Given the description of an element on the screen output the (x, y) to click on. 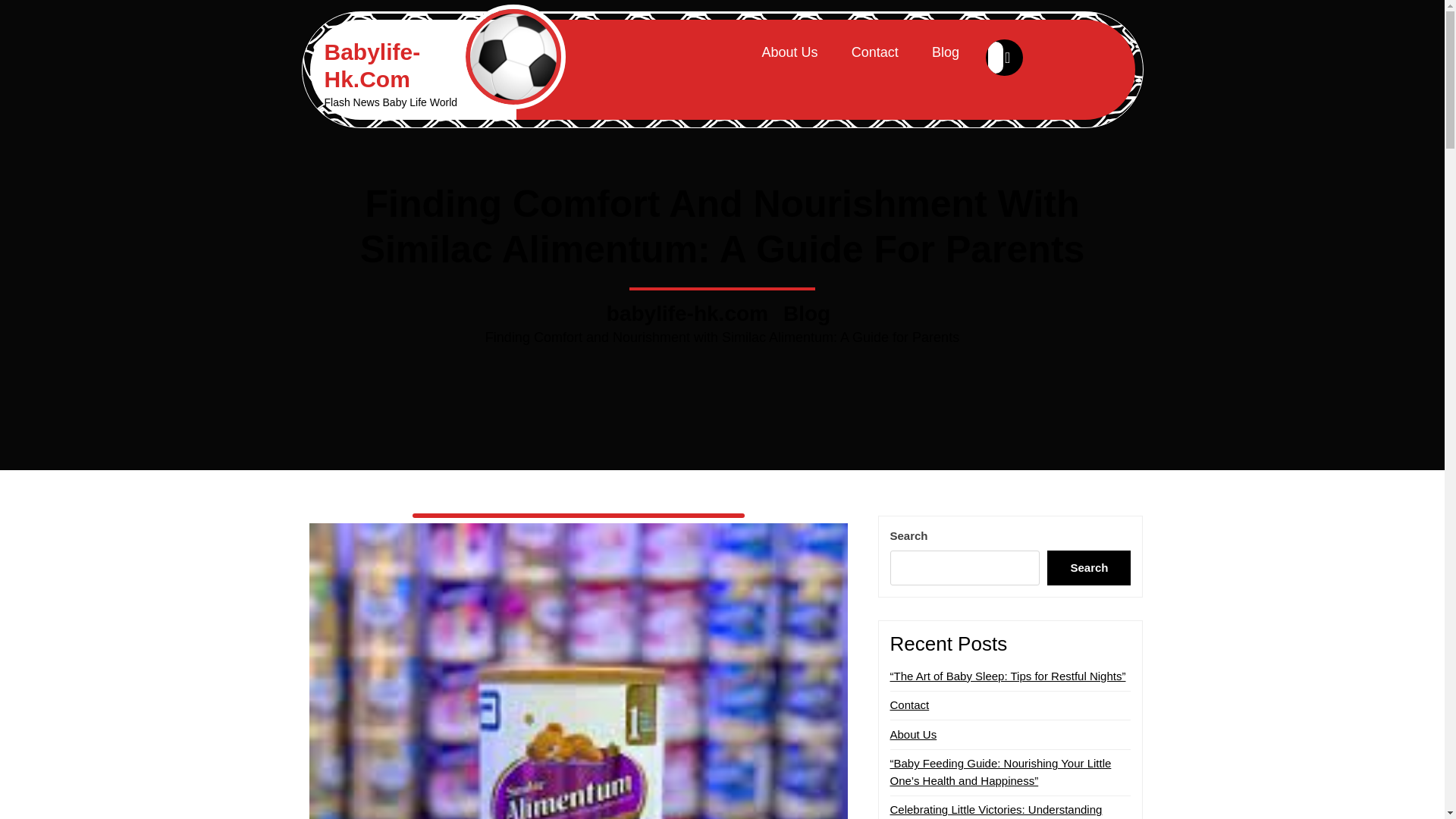
About Us (913, 734)
Babylife-Hk.Com (372, 65)
Blog (945, 52)
Contact (909, 704)
Celebrating Little Victories: Understanding Baby Milestones (995, 811)
About Us (789, 52)
Blog (807, 313)
Contact (874, 52)
babylife-hk.com (687, 313)
Search (1088, 567)
